Given the description of an element on the screen output the (x, y) to click on. 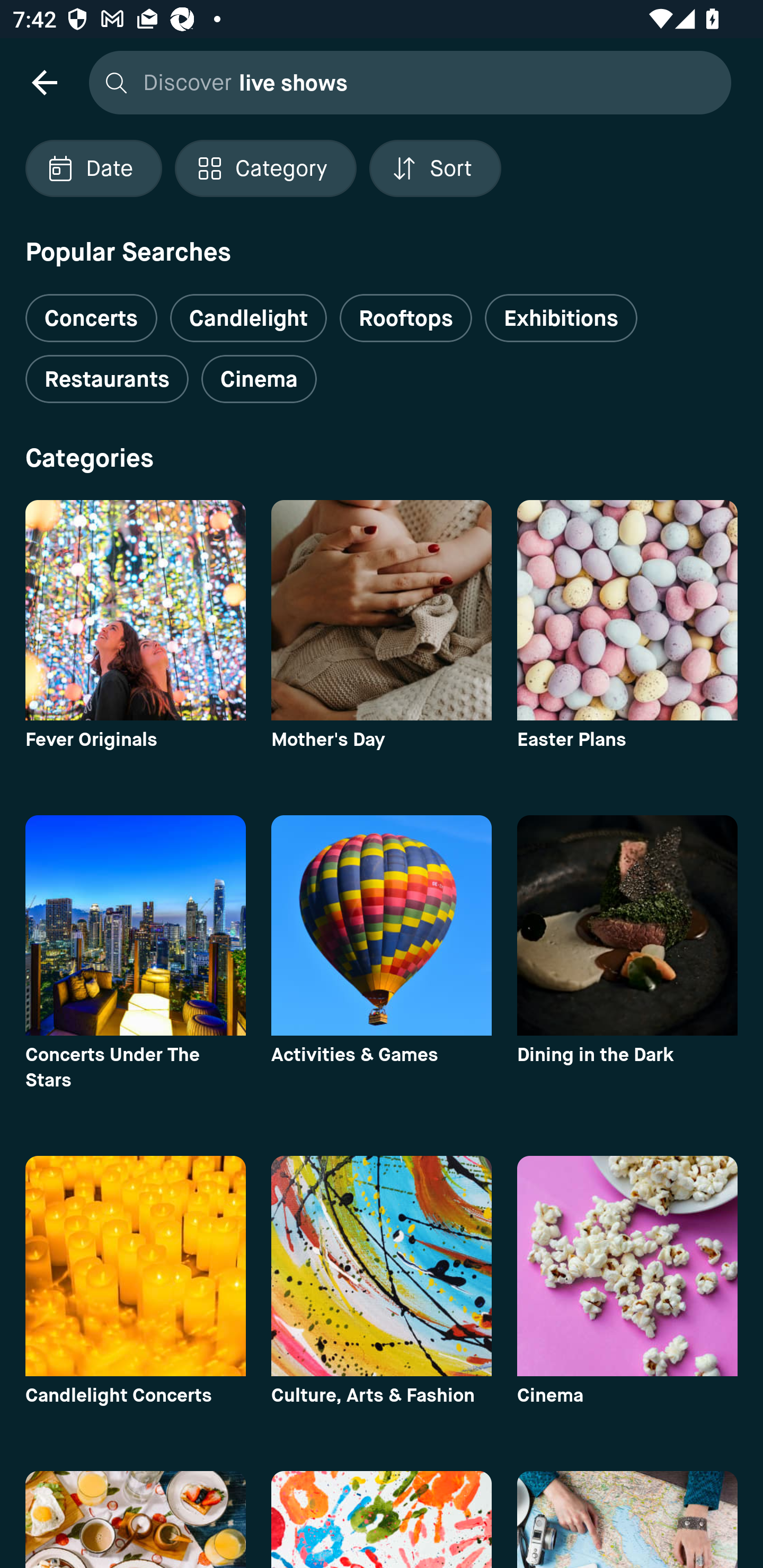
navigation icon (44, 81)
Discover live shows (405, 81)
Localized description Date (93, 168)
Localized description Category (265, 168)
Localized description Sort (435, 168)
Concerts (91, 310)
Candlelight (248, 317)
Rooftops (405, 317)
Exhibitions (560, 317)
Restaurants (106, 379)
Cinema (258, 379)
category image (135, 609)
category image (381, 609)
category image (627, 609)
category image (135, 924)
category image (381, 924)
category image (627, 924)
category image (135, 1265)
category image (381, 1265)
category image (627, 1265)
